Given the description of an element on the screen output the (x, y) to click on. 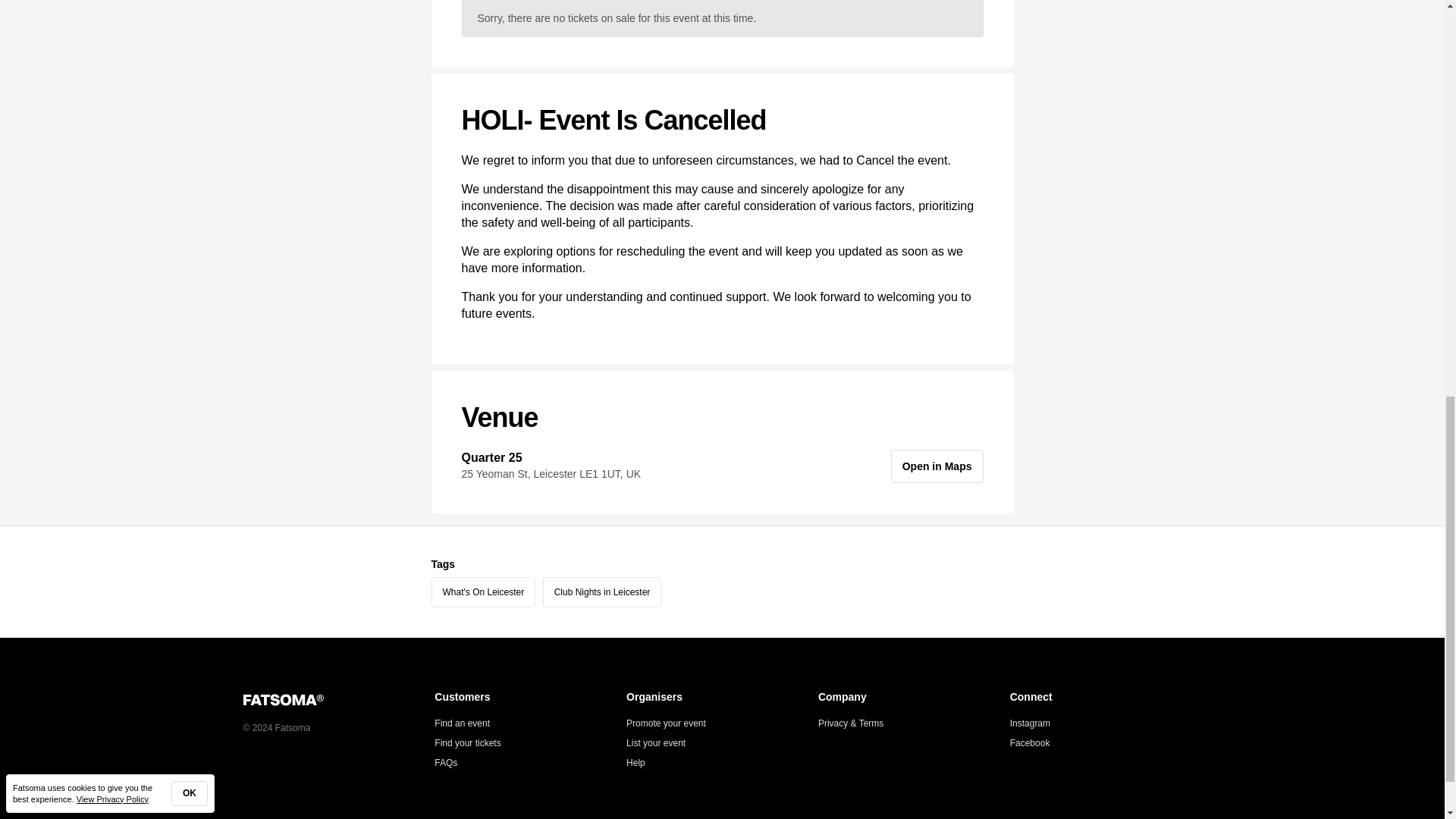
List your event (655, 742)
Open in Maps (937, 466)
FAQs (445, 762)
Fatsoma (338, 699)
Find an event (461, 723)
Fatsoma (283, 699)
Find your tickets (466, 742)
What's On Leicester (482, 592)
Club Nights in Leicester (602, 592)
Promote your event (666, 723)
